Given the description of an element on the screen output the (x, y) to click on. 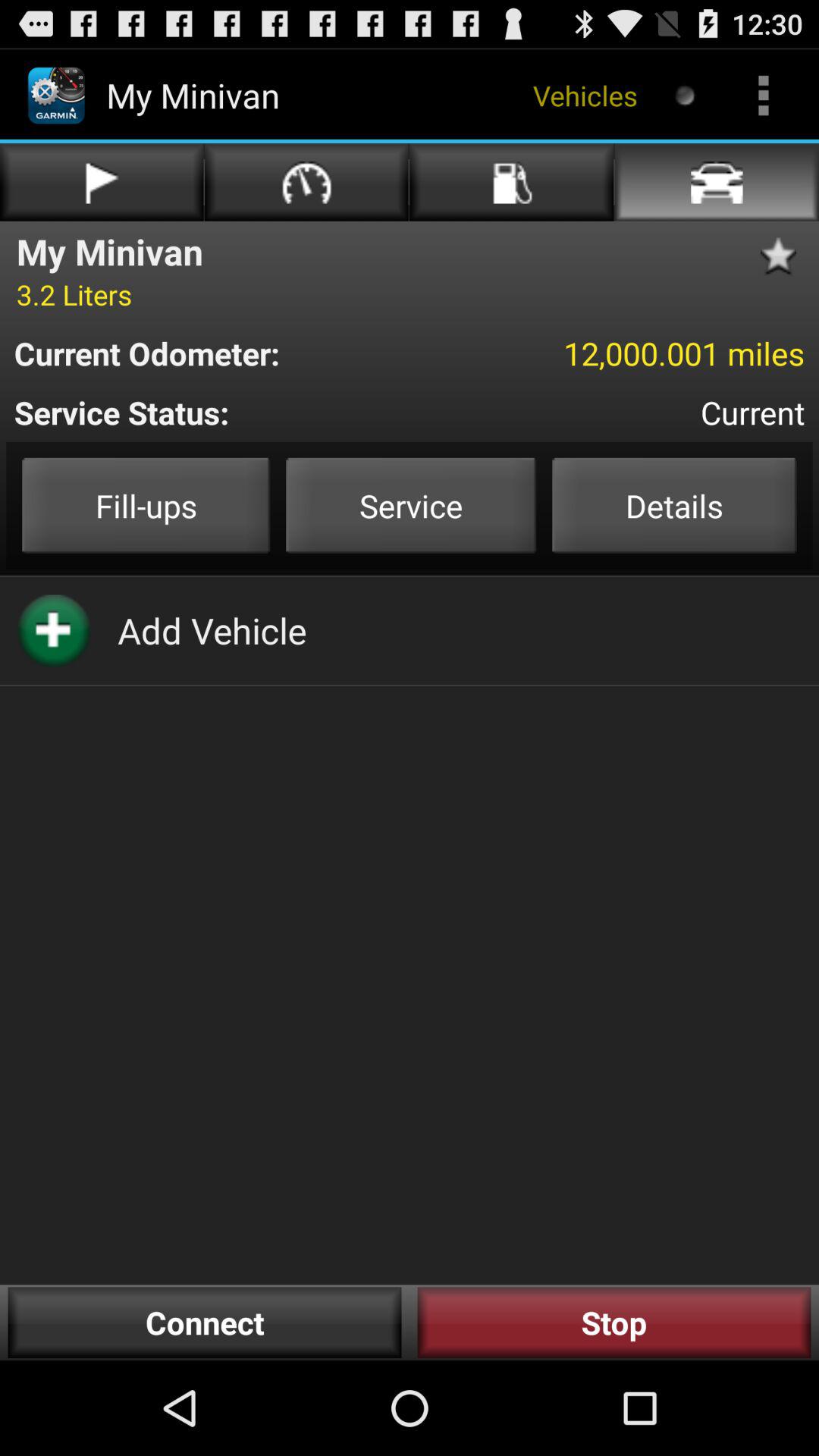
flip to the service status: item (239, 411)
